Given the description of an element on the screen output the (x, y) to click on. 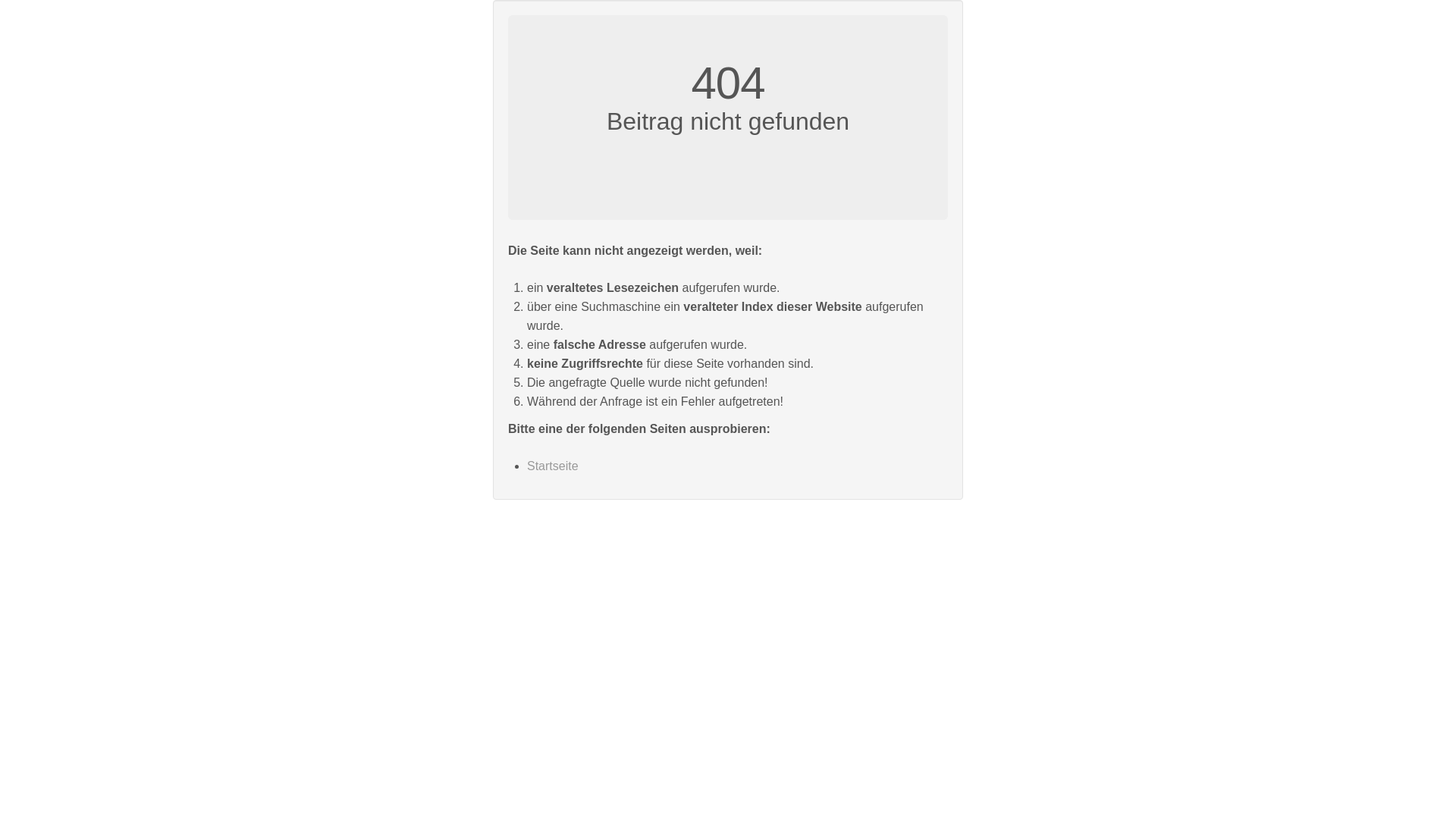
Startseite Element type: text (552, 465)
